Given the description of an element on the screen output the (x, y) to click on. 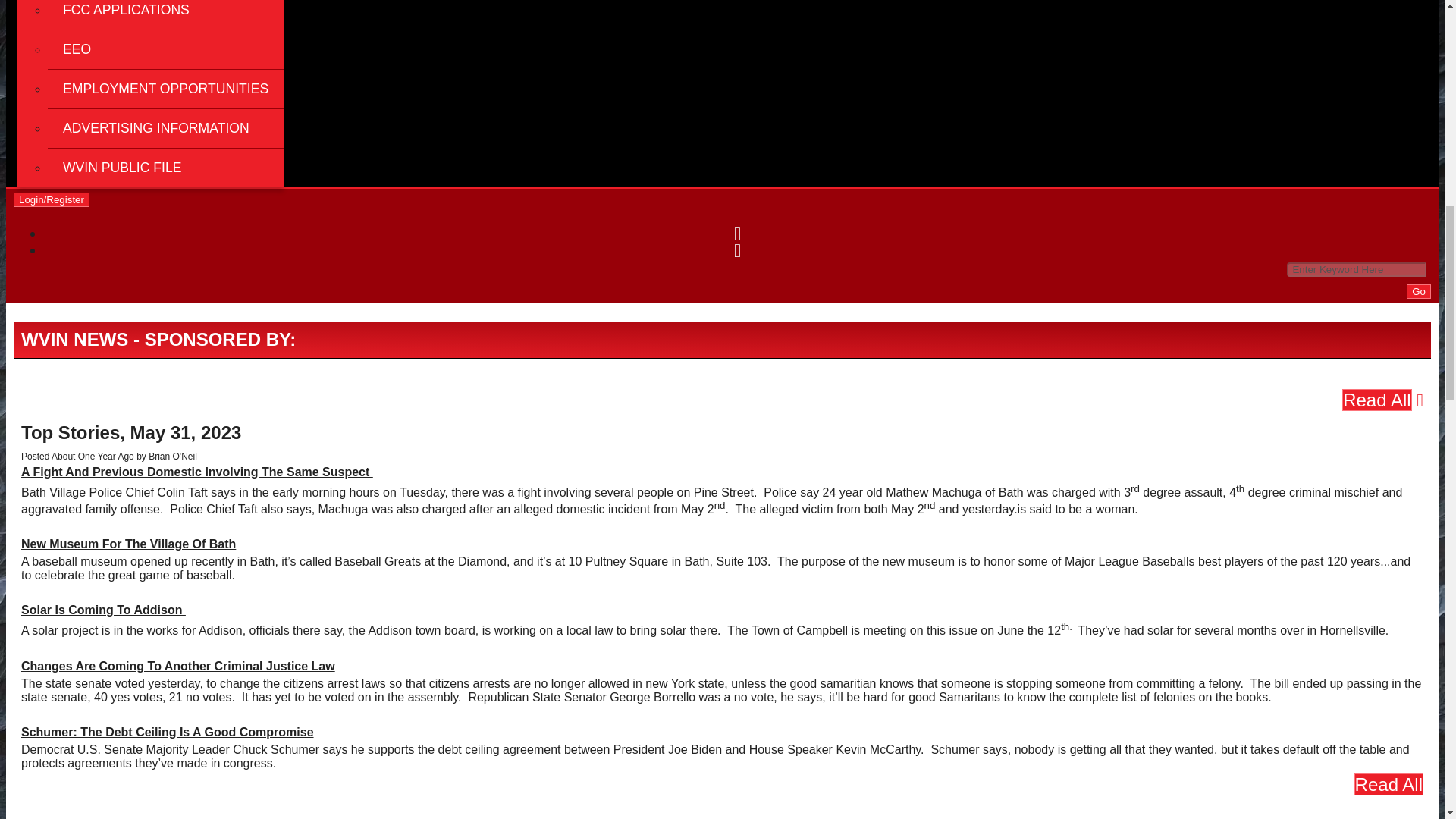
Enter Keyword Here (1356, 269)
Read All (1376, 400)
